Given the description of an element on the screen output the (x, y) to click on. 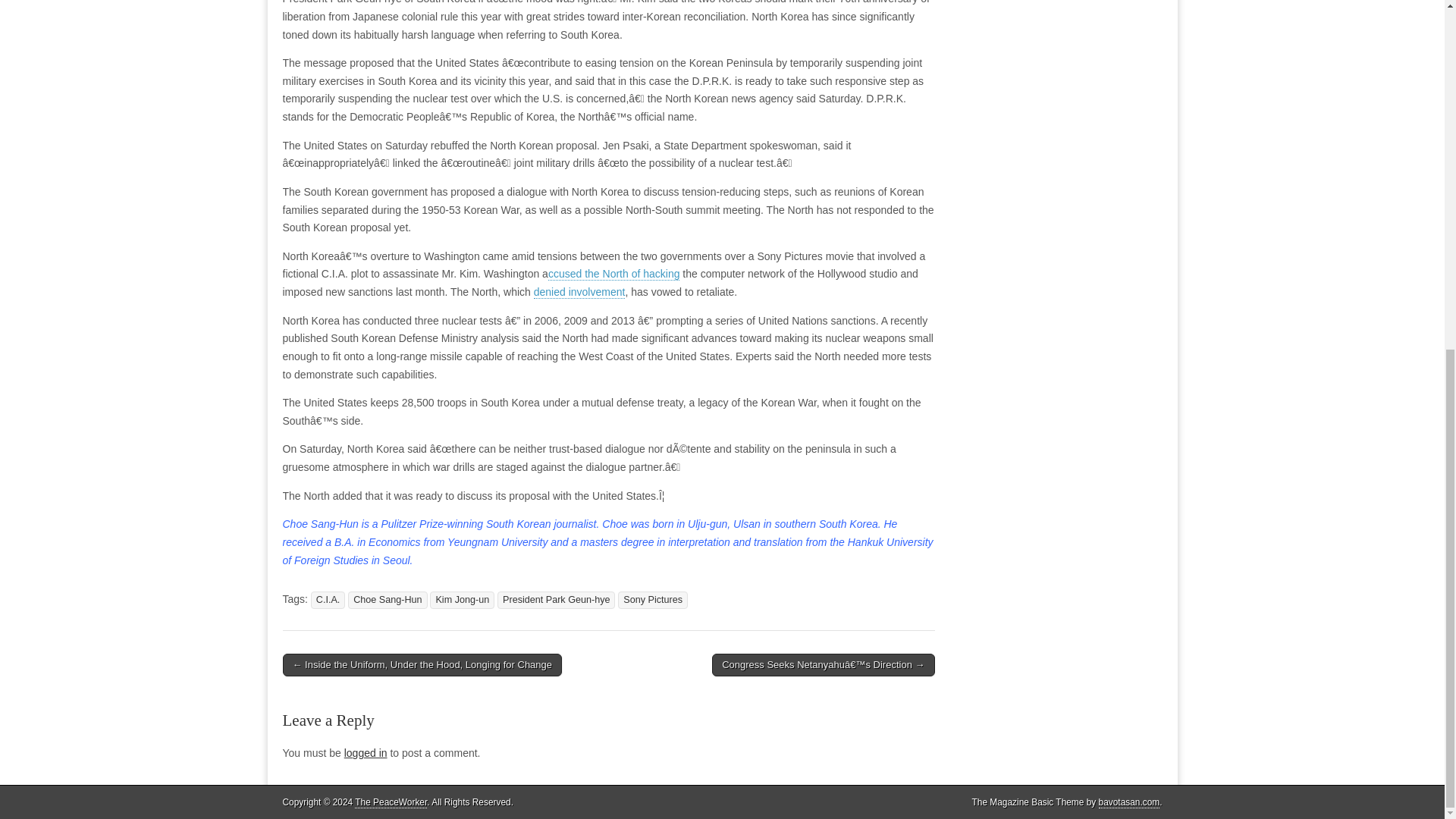
logged in (365, 752)
Kim Jong-un (462, 600)
Sony Pictures (652, 600)
The PeaceWorker (390, 802)
Choe Sang-Hun (386, 600)
President Park Geun-hye (555, 600)
ccused the North of hacking (613, 273)
denied involvement (580, 291)
bavotasan.com (1129, 802)
C.I.A. (328, 600)
